Given the description of an element on the screen output the (x, y) to click on. 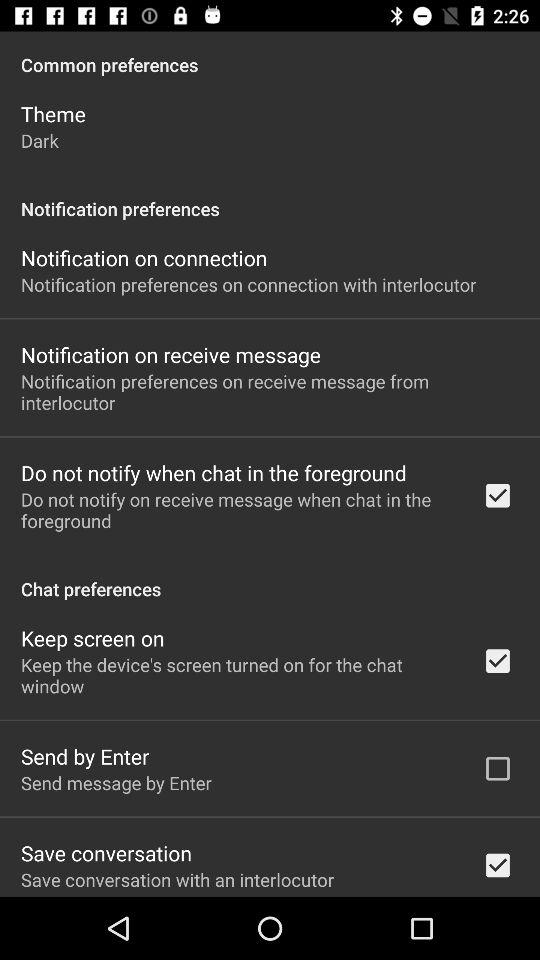
choose the item below common preferences (53, 113)
